Given the description of an element on the screen output the (x, y) to click on. 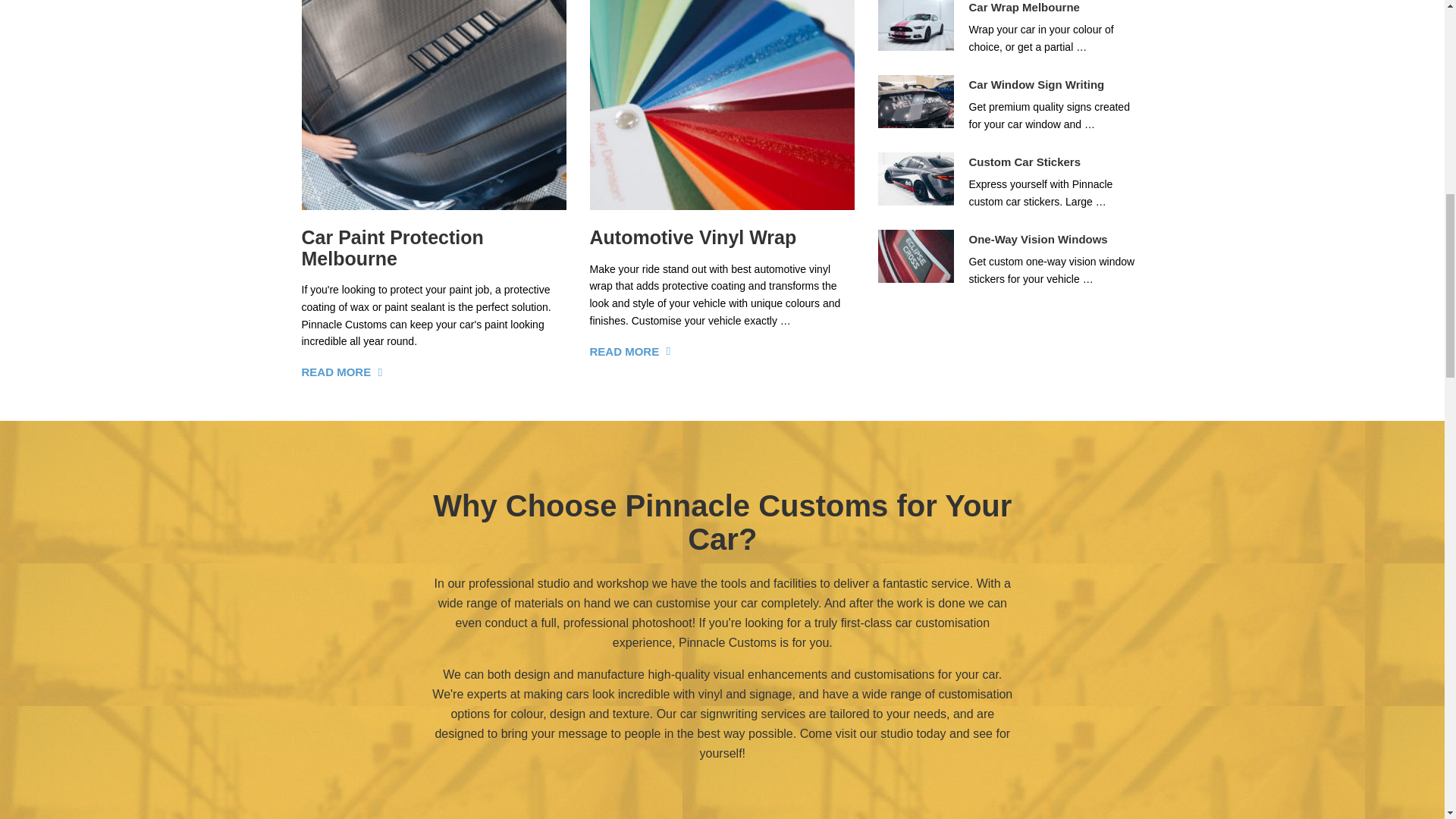
One-Way Vision Windows (1038, 238)
Car Paint Protection Melbourne (392, 247)
Car Window Sign Writing (1037, 83)
Custom Car Stickers (1025, 161)
Car Wrap Melbourne (1024, 6)
READ MORE (624, 350)
Automotive Vinyl Wrap (692, 237)
READ MORE (336, 371)
